Given the description of an element on the screen output the (x, y) to click on. 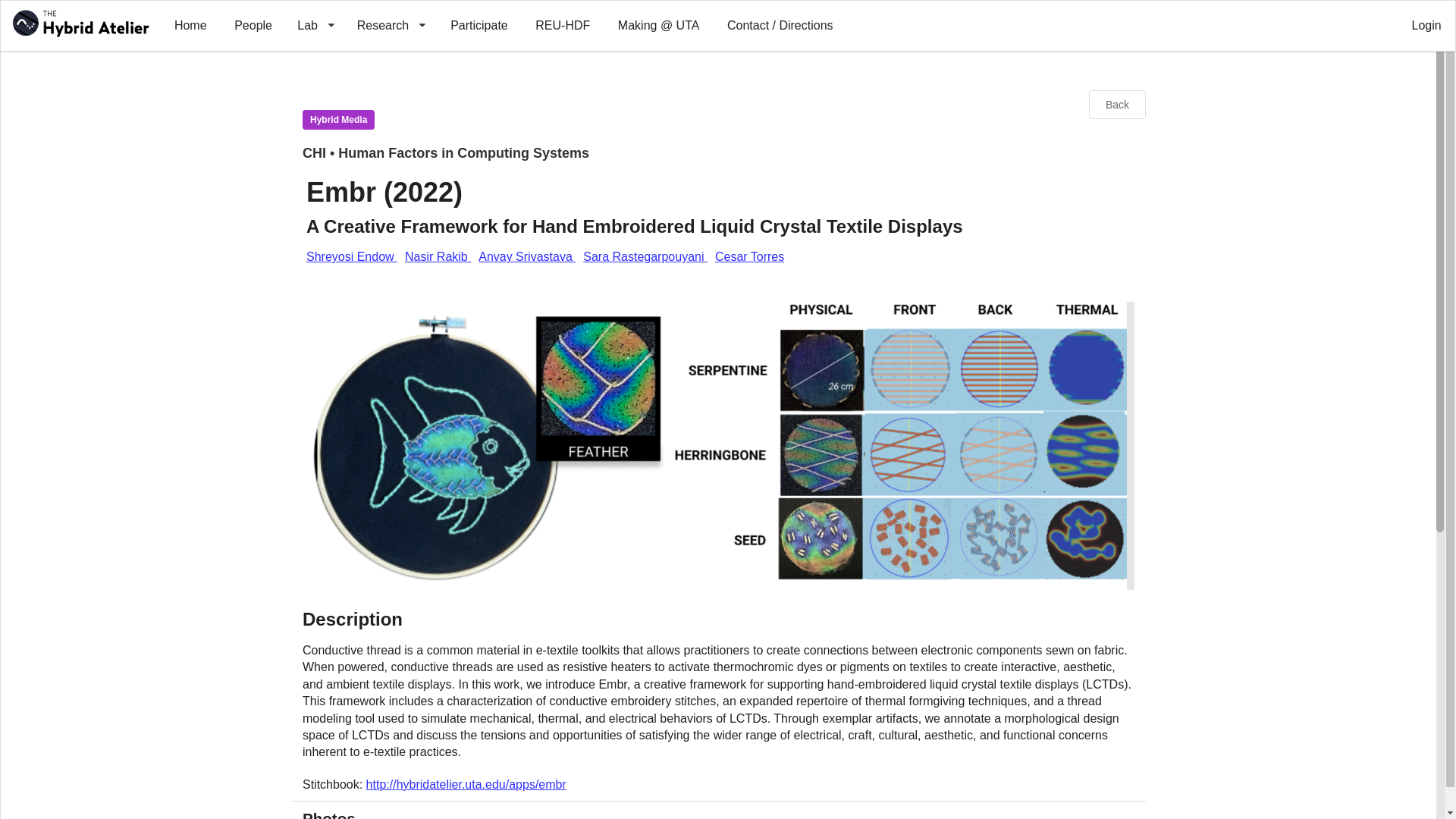
Sara Rastegarpouyani (645, 256)
Anvay Srivastava (527, 256)
Home (190, 25)
Cesar Torres (749, 256)
Nasir Rakib (437, 256)
Back (1116, 103)
Shreyosi Endow (351, 256)
REU-HDF (562, 25)
People (253, 25)
Participate (478, 25)
